Given the description of an element on the screen output the (x, y) to click on. 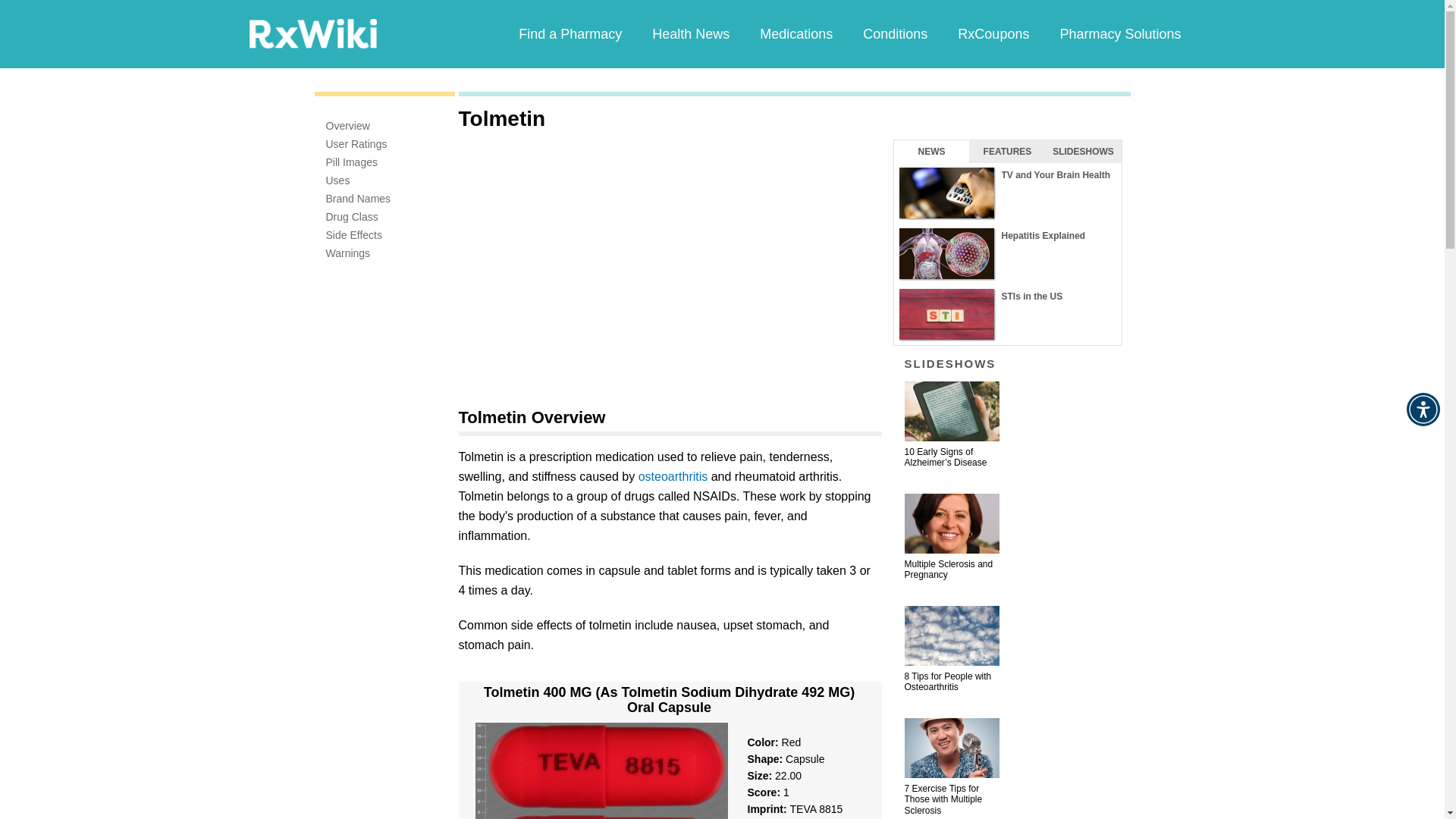
Overview (347, 125)
Conditions (894, 33)
Brand Names (358, 198)
Drug Class (352, 216)
Side Effects (353, 234)
RxWiki (312, 32)
osteoarthritis (673, 476)
Health News (690, 33)
Pharmacy Solutions (1119, 33)
Accessibility Menu (1422, 409)
Find a Pharmacy (570, 33)
Medications (795, 33)
Pill Images (351, 162)
Uses (338, 180)
Warnings (348, 253)
